Given the description of an element on the screen output the (x, y) to click on. 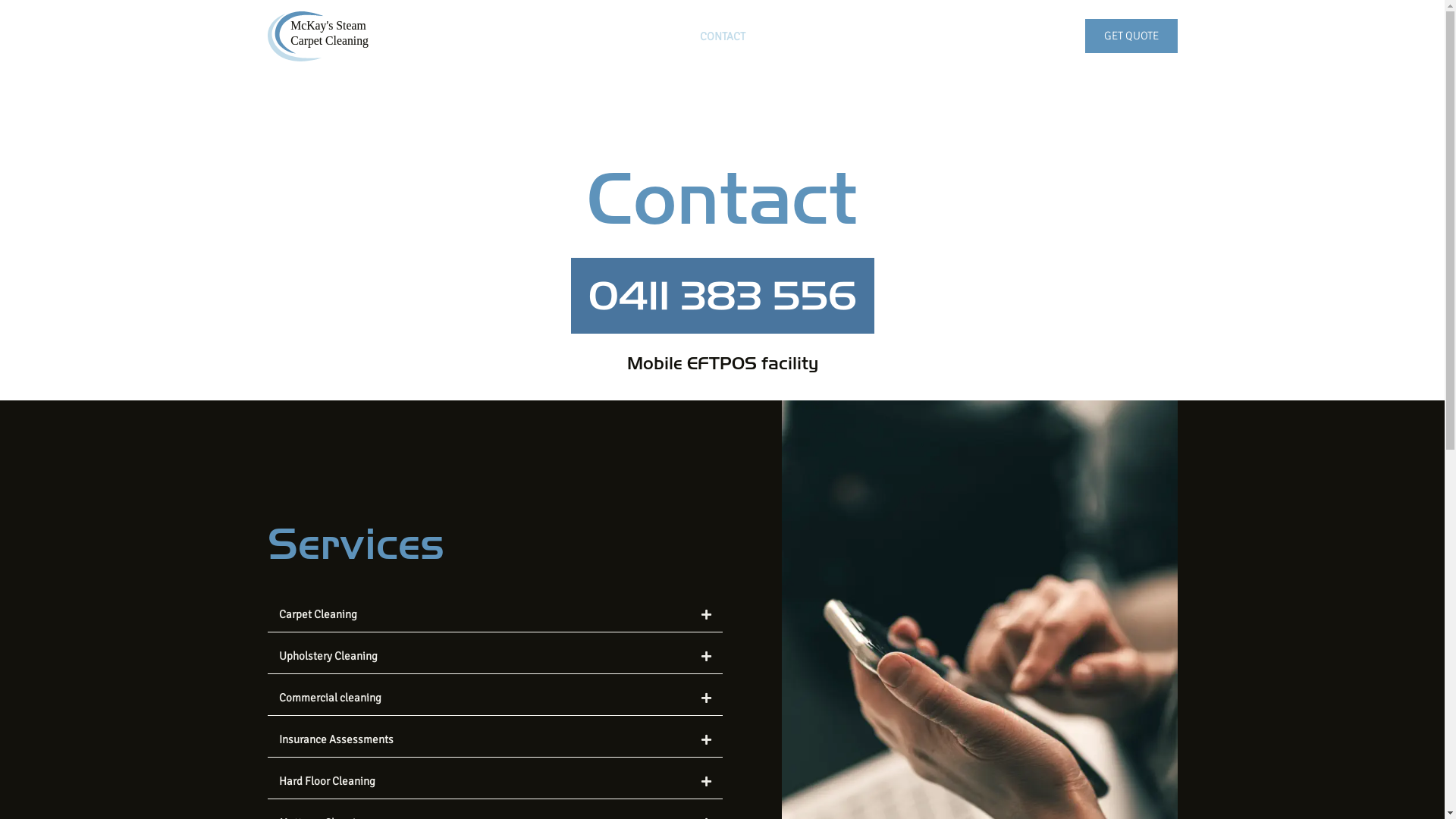
GET QUOTE Element type: text (1130, 35)
Upholstery Cleaning Element type: text (328, 655)
PhnNo-1-1.png Element type: hover (721, 295)
Insurance Assessments Element type: text (336, 739)
Hard Floor Cleaning Element type: text (327, 780)
Commercial cleaning Element type: text (330, 697)
Carpet Cleaning Element type: text (318, 614)
CONTACT Element type: text (722, 35)
